Given the description of an element on the screen output the (x, y) to click on. 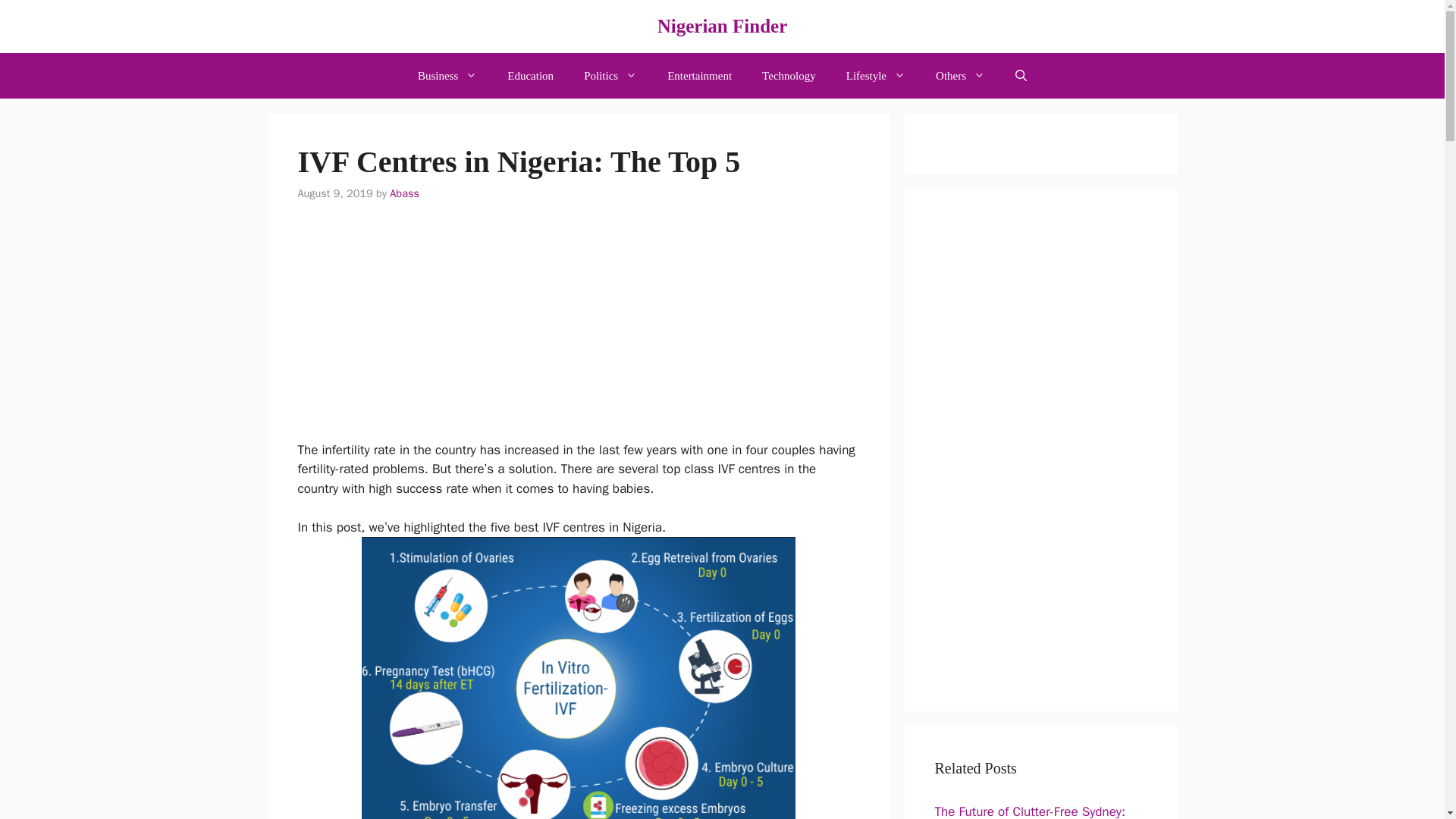
Technology (788, 75)
Lifestyle (875, 75)
Politics (610, 75)
Advertisement (577, 334)
Others (960, 75)
View all posts by Abass (404, 192)
Business (447, 75)
Abass (404, 192)
Entertainment (699, 75)
Education (530, 75)
Nigerian Finder (722, 25)
